Given the description of an element on the screen output the (x, y) to click on. 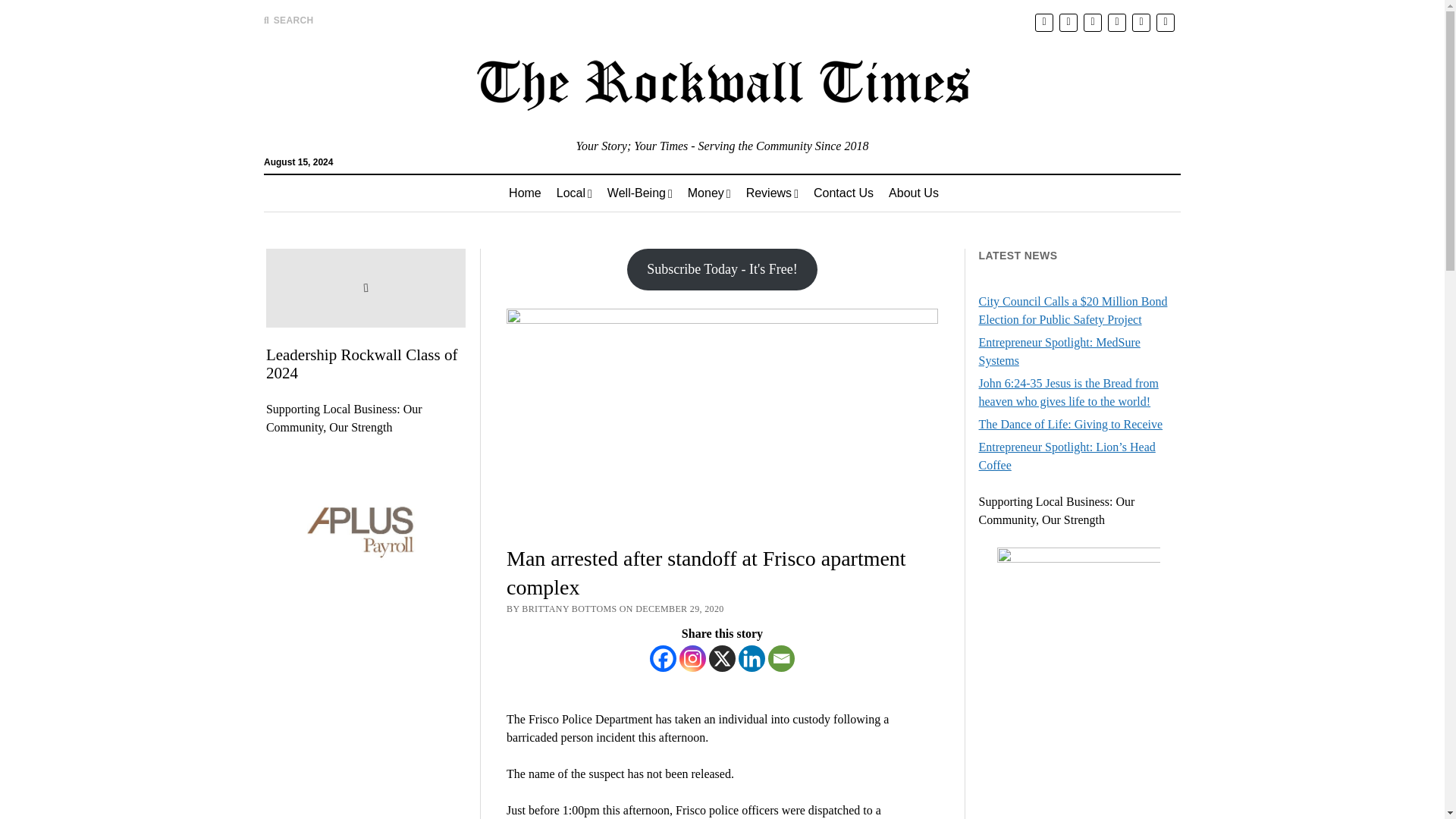
phone (1165, 22)
X (722, 658)
SEARCH (288, 20)
Instagram (692, 658)
Linkedin (751, 658)
Facebook (663, 658)
Email (781, 658)
Home (524, 193)
Search (945, 129)
Money (708, 193)
